Given the description of an element on the screen output the (x, y) to click on. 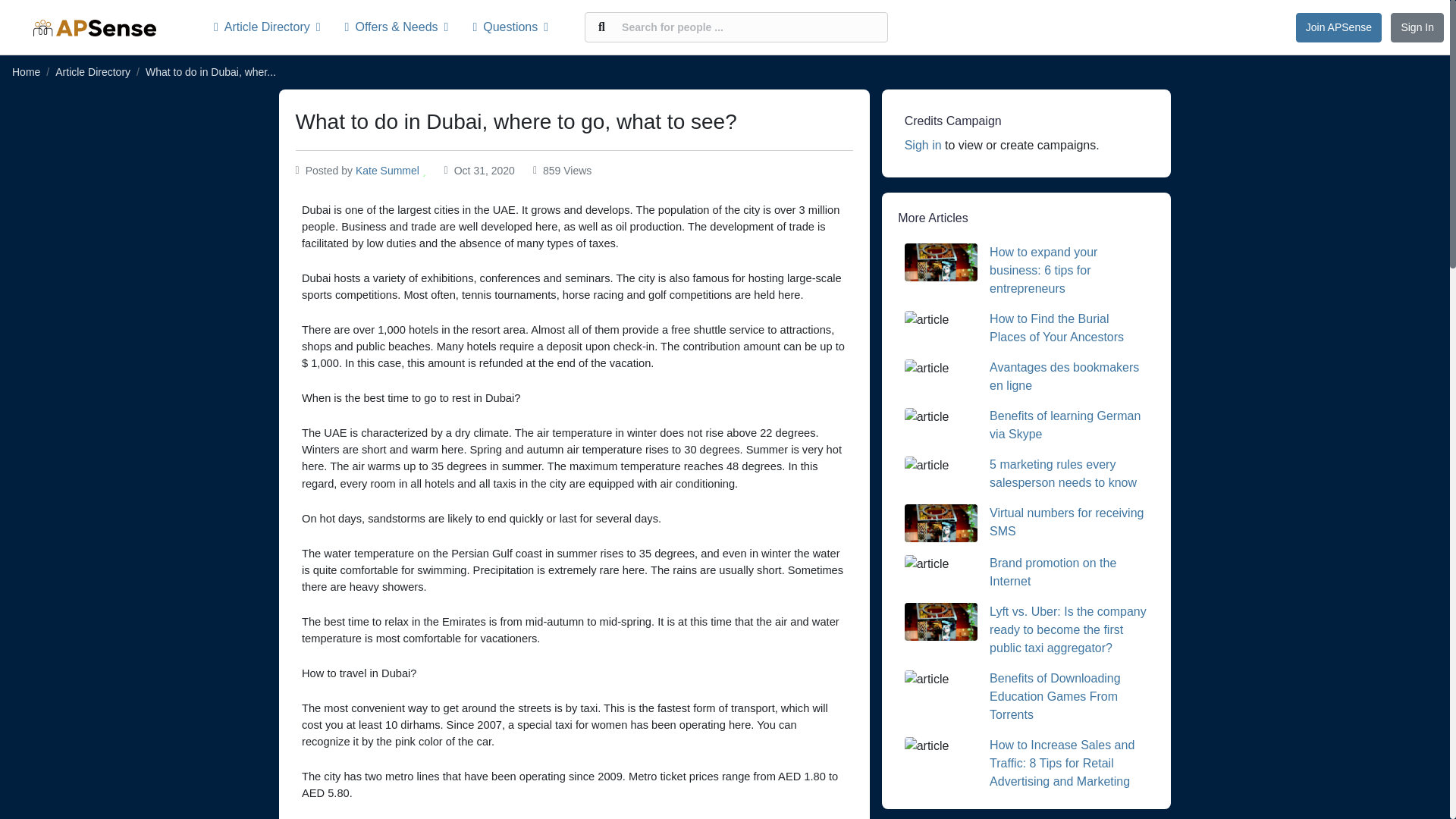
Article Directory (273, 27)
Home (25, 71)
Benefits of learning German via Skype (1065, 424)
Questions (510, 27)
Virtual numbers for receiving SMS (1066, 521)
Brand promotion on the Internet (1053, 572)
Sigh in (923, 144)
How to Find the Burial Places of Your Ancestors (1057, 327)
Benefits of Downloading Education Games From Torrents (1055, 696)
Article Directory (93, 71)
